Given the description of an element on the screen output the (x, y) to click on. 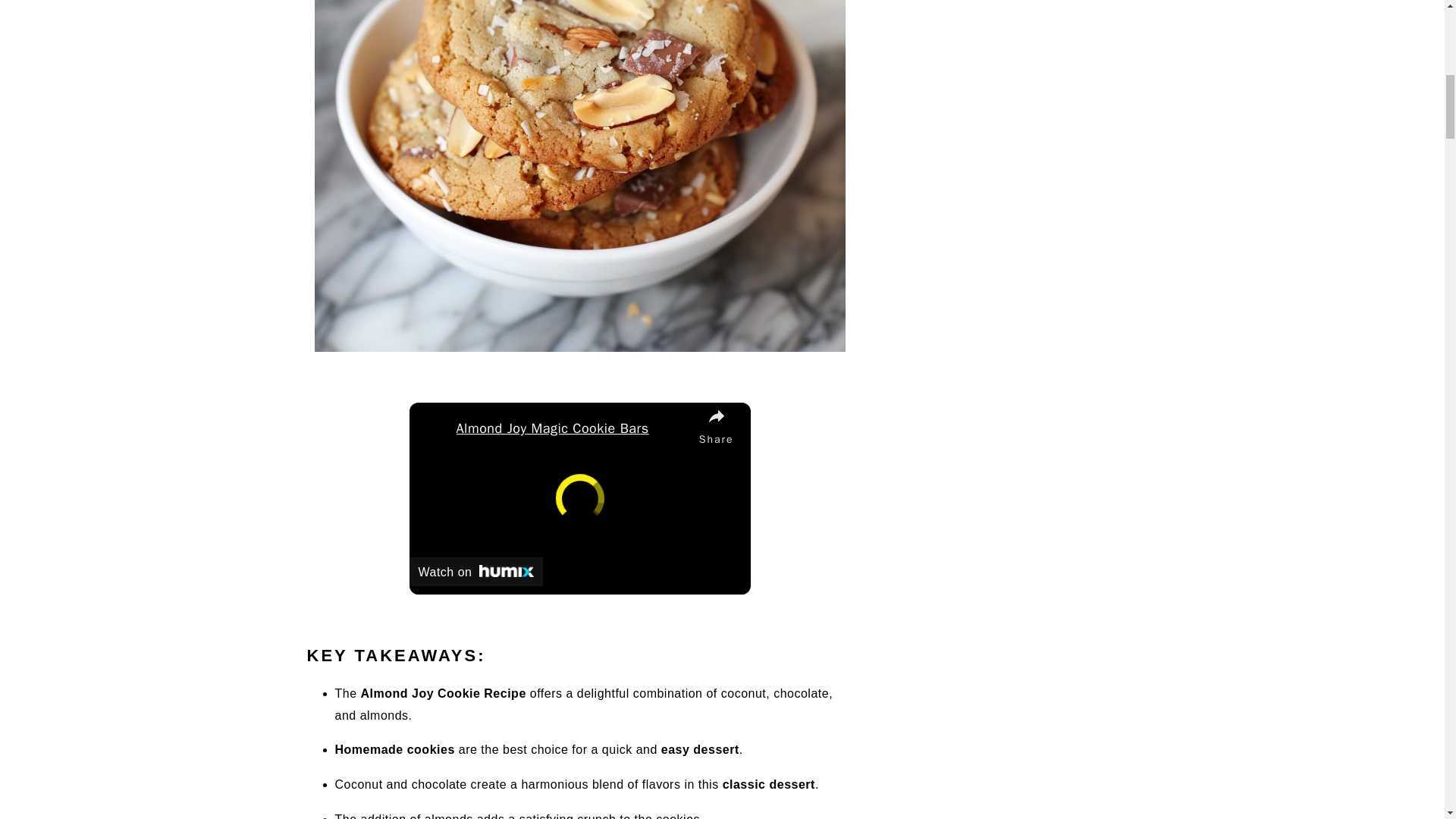
Watch on (476, 571)
Almond Joy Magic Cookie Bars (574, 428)
